Given the description of an element on the screen output the (x, y) to click on. 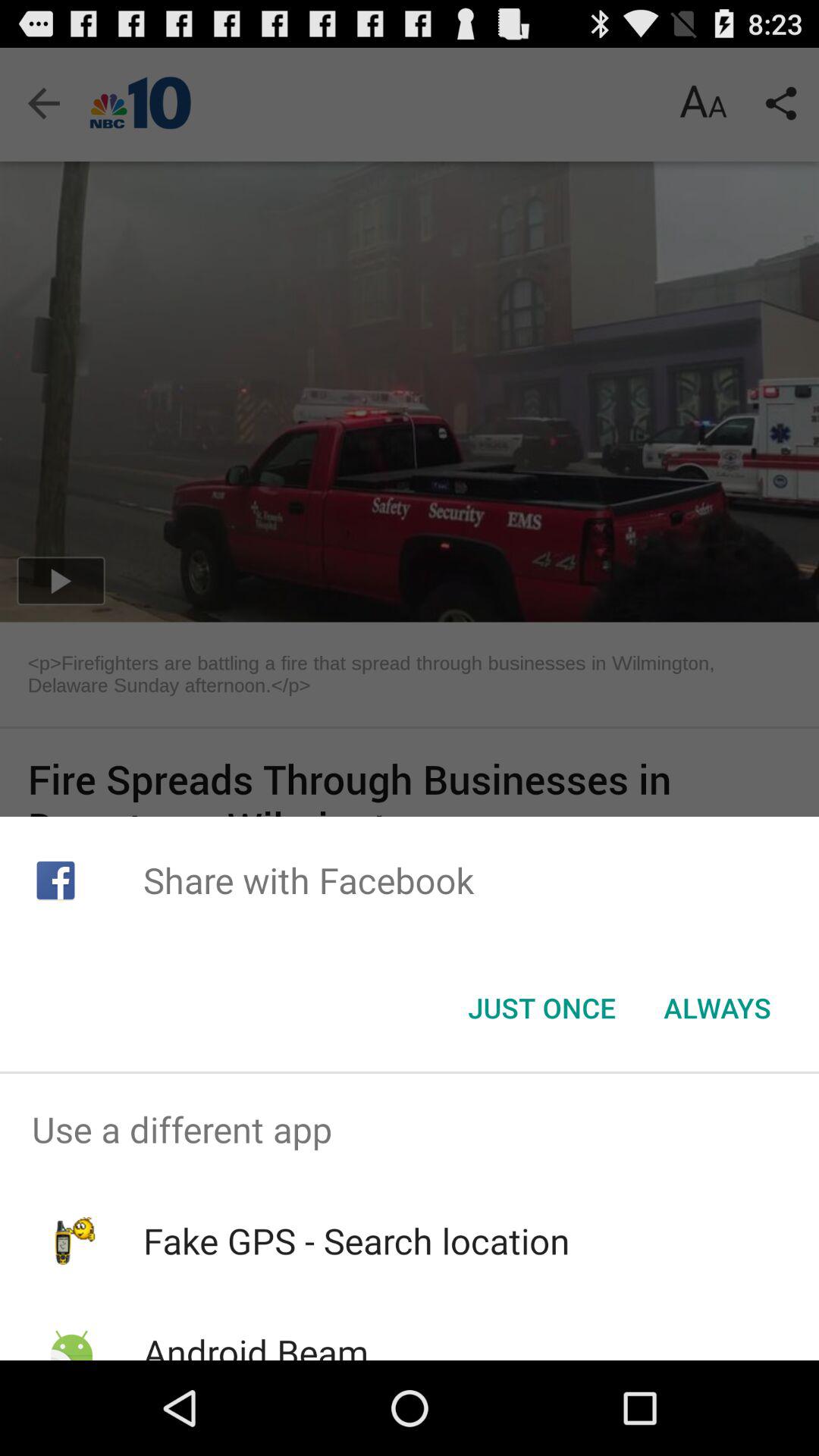
open the app above the fake gps search item (409, 1129)
